Given the description of an element on the screen output the (x, y) to click on. 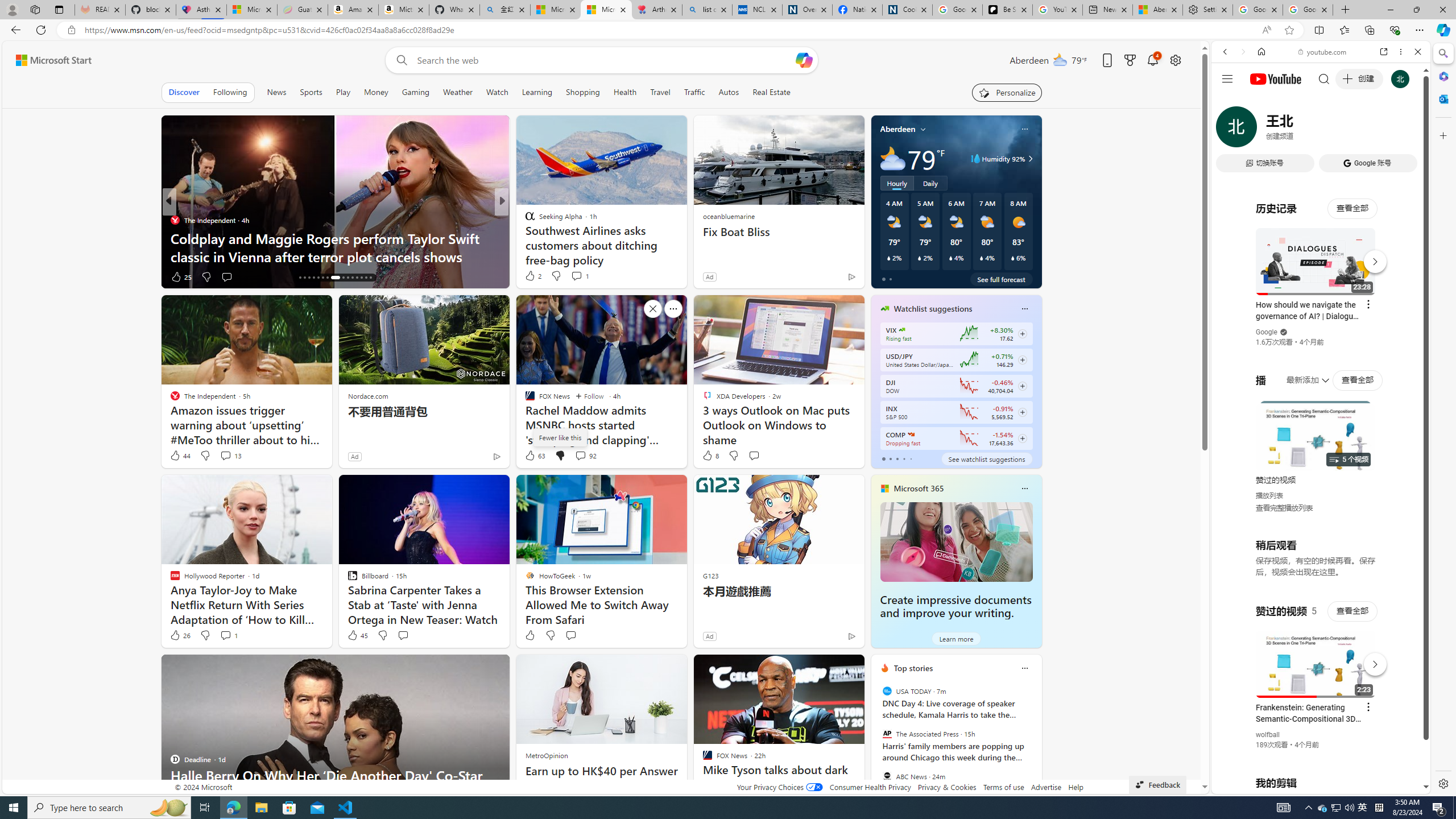
View comments 3 Comment (580, 276)
119 Like (532, 276)
Travel (660, 92)
View comments 25 Comment (231, 276)
Traffic (694, 92)
Inverse (174, 219)
Click to scroll right (1407, 456)
tab-1 (889, 458)
Skip to footer (46, 59)
AutomationID: tab-17 (304, 277)
Notifications (1152, 60)
oceanbluemarine (727, 215)
